Given the description of an element on the screen output the (x, y) to click on. 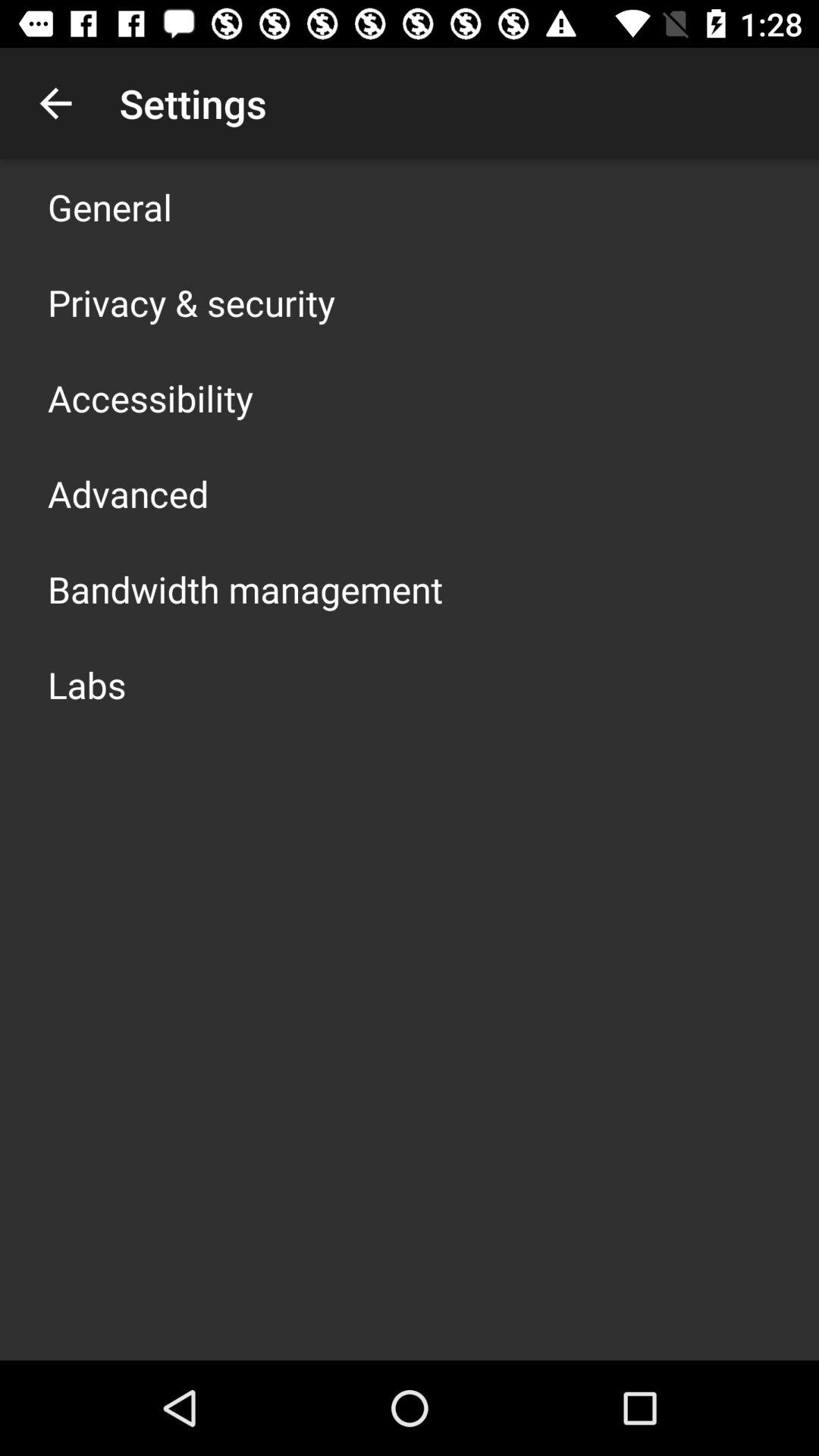
turn off the bandwidth management item (245, 588)
